Given the description of an element on the screen output the (x, y) to click on. 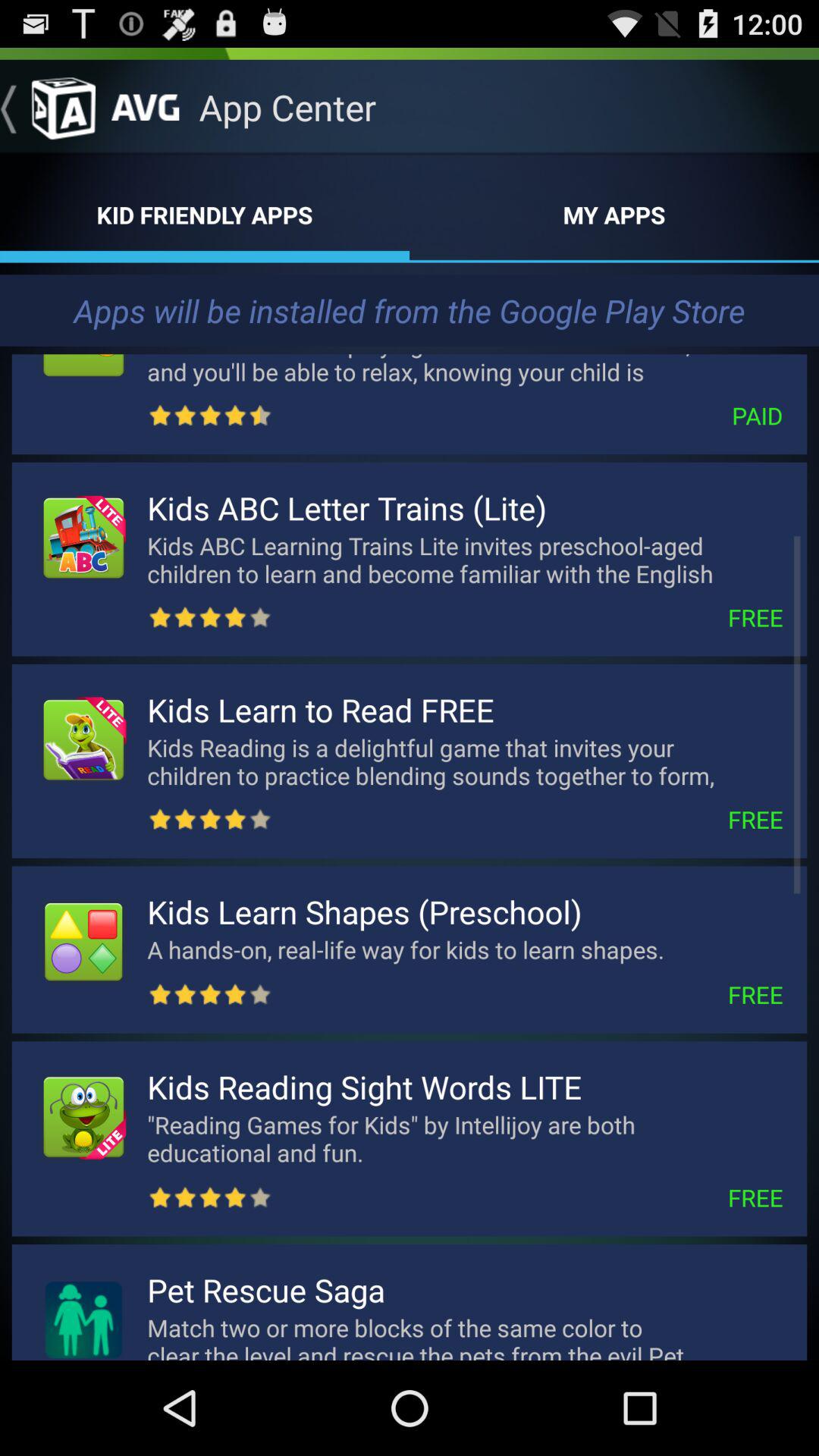
scroll until the paid app (527, 415)
